Given the description of an element on the screen output the (x, y) to click on. 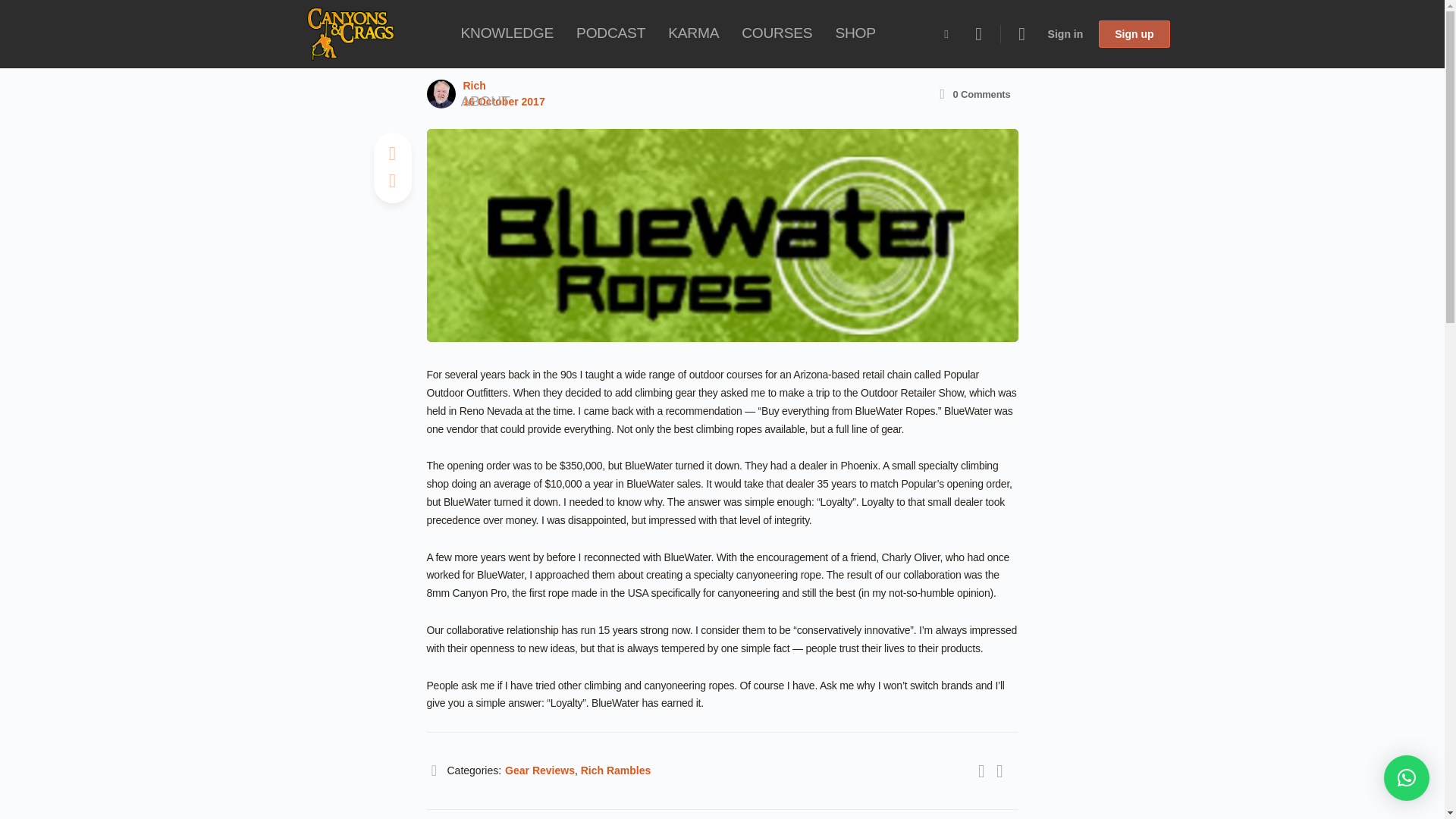
COURSES (776, 33)
ABOUT (485, 101)
Gear Reviews (540, 770)
Rich Rambles (615, 770)
0 Comments (972, 94)
Rich (473, 85)
KARMA (693, 33)
16 October 2017 (503, 101)
Sign in (1066, 33)
Sign up (1134, 33)
KNOWLEDGE (507, 33)
PODCAST (610, 33)
